Given the description of an element on the screen output the (x, y) to click on. 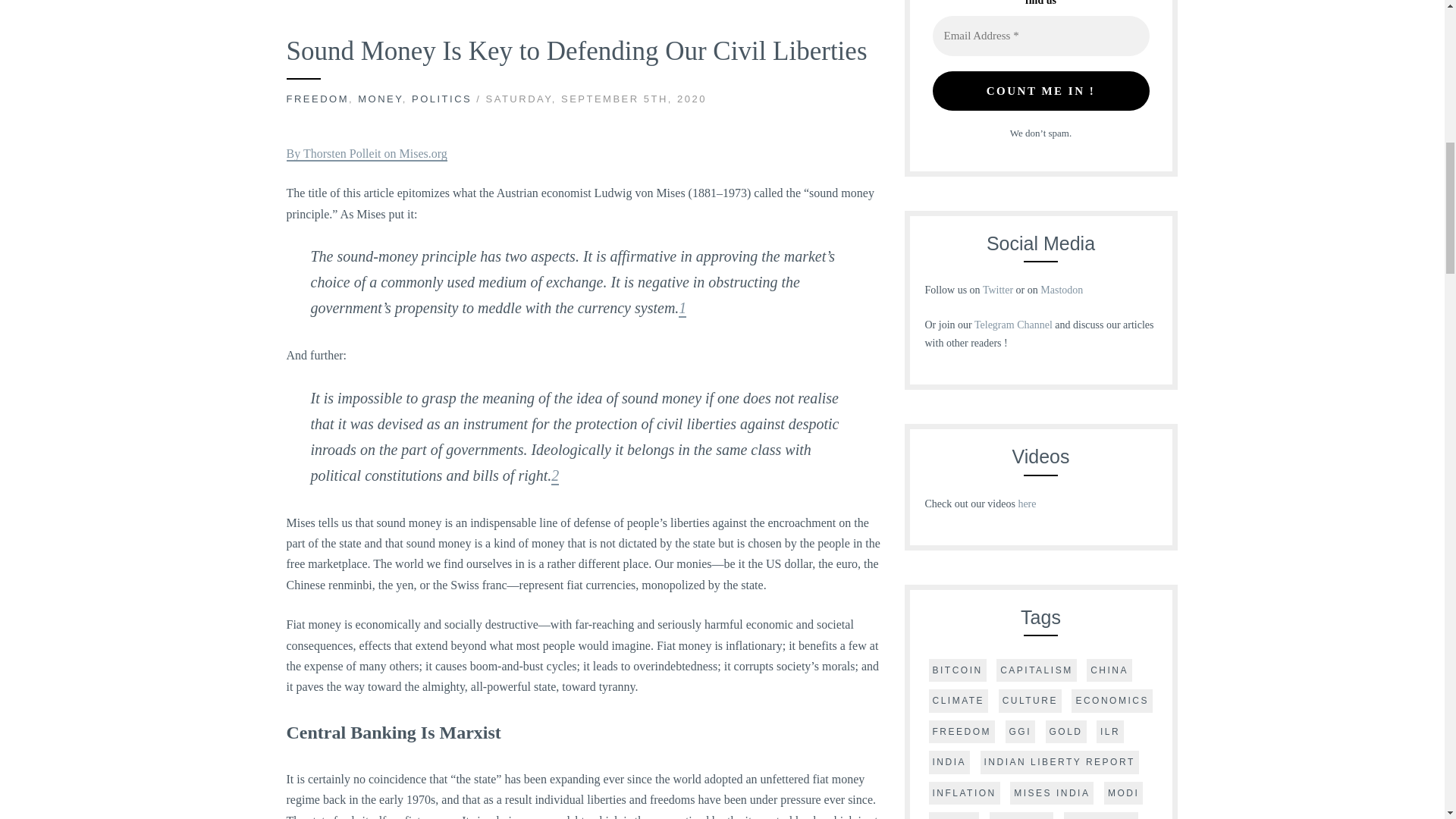
Count me in ! (1041, 91)
Email Address (1041, 35)
POLITICS (441, 98)
MONEY (380, 98)
FREEDOM (317, 98)
By Thorsten Polleit on Mises.org (366, 154)
